Given the description of an element on the screen output the (x, y) to click on. 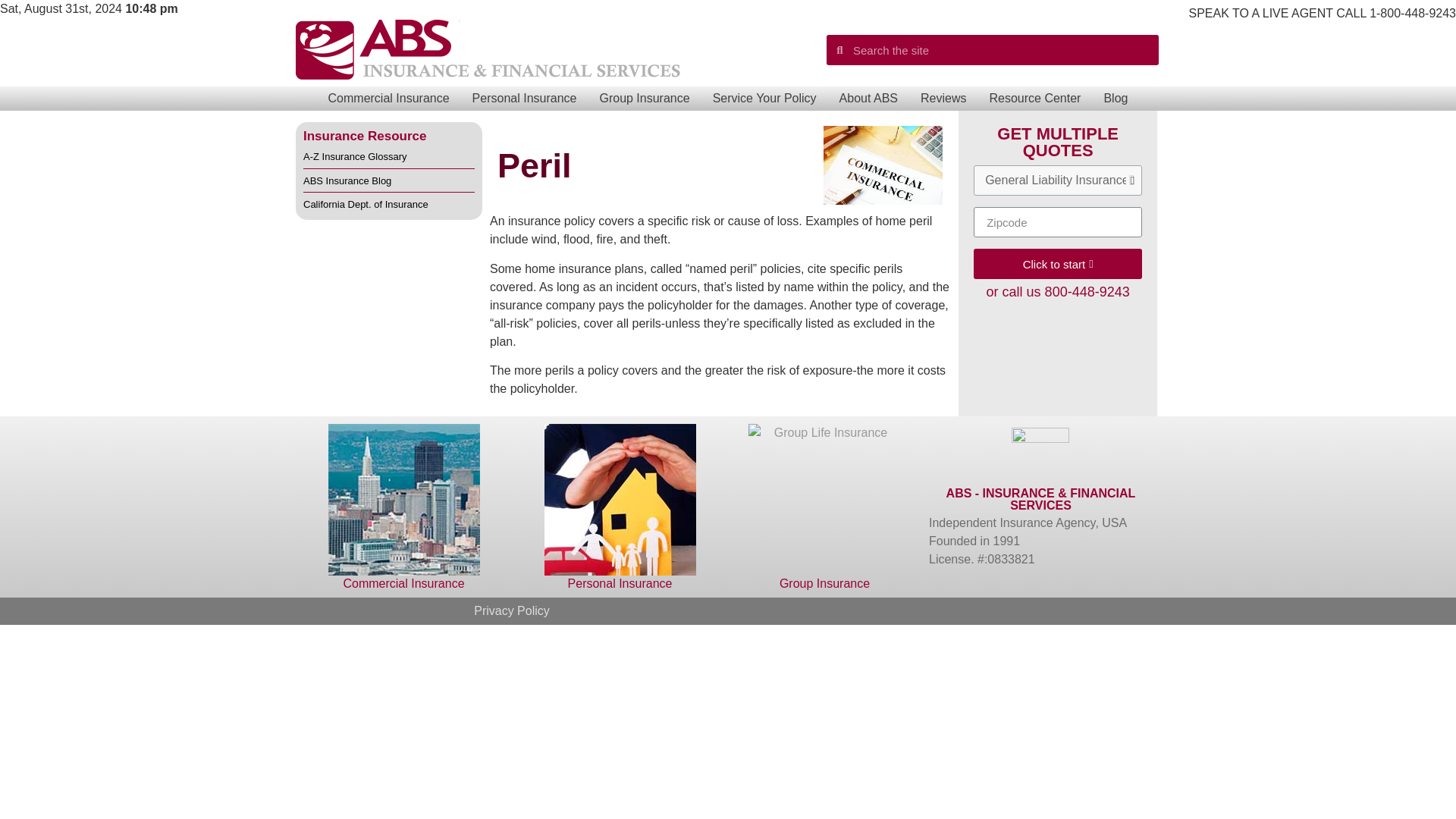
Personal Insurance (524, 98)
Service Your Policy (764, 98)
Resource Center (1034, 98)
Blog (1115, 98)
Group Insurance (644, 98)
Commercial Insurance (389, 98)
About ABS (868, 98)
Search (1000, 50)
Reviews (942, 98)
